Given the description of an element on the screen output the (x, y) to click on. 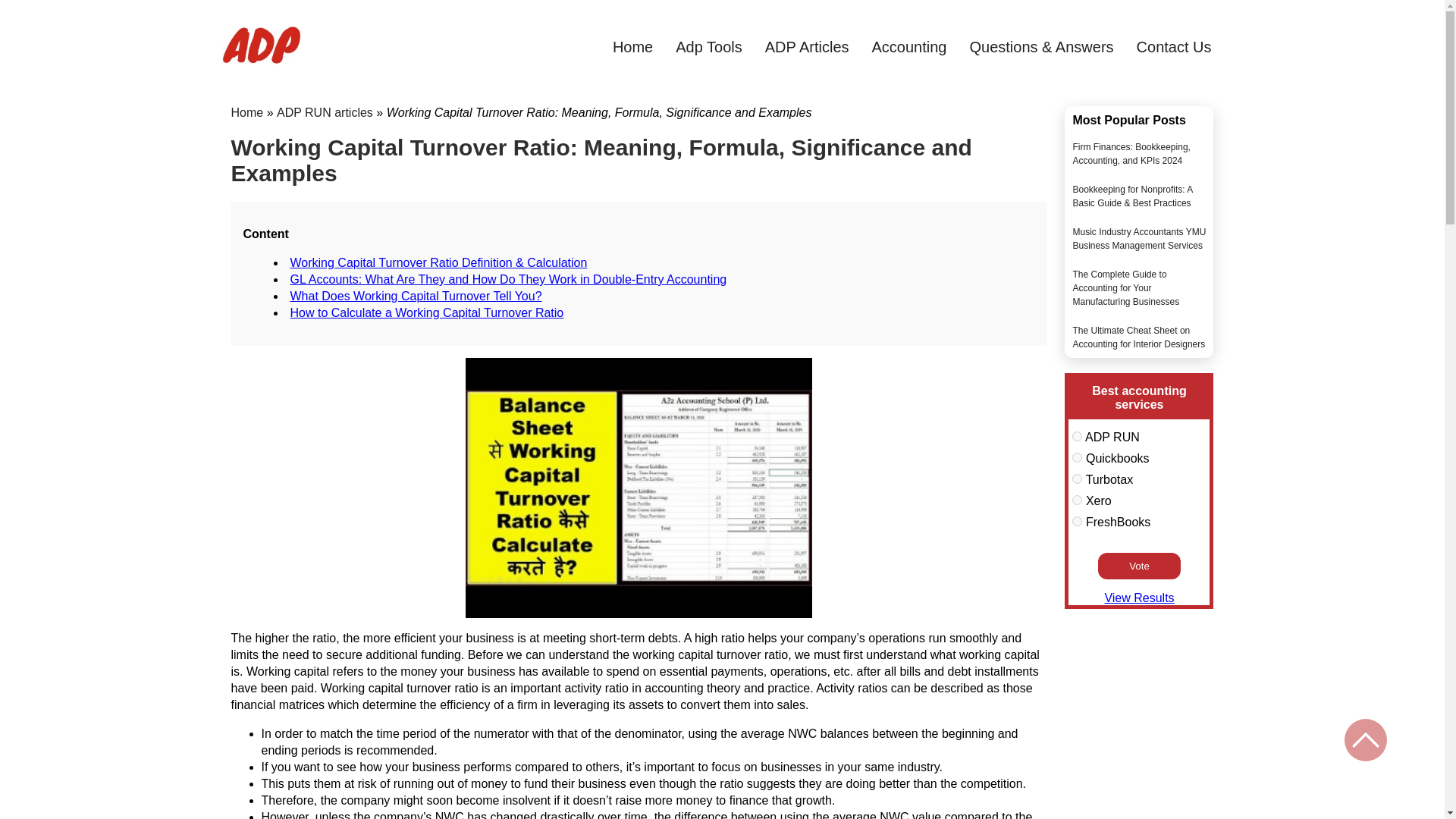
7 (1076, 457)
Home (246, 112)
8 (1076, 479)
What Does Working Capital Turnover Tell You? (415, 295)
How to Calculate a Working Capital Turnover Ratio (426, 312)
View Results Of This Poll (1138, 597)
ADP RUN articles (324, 112)
6 (1076, 436)
   Vote    (1138, 565)
Accounting (909, 47)
